Given the description of an element on the screen output the (x, y) to click on. 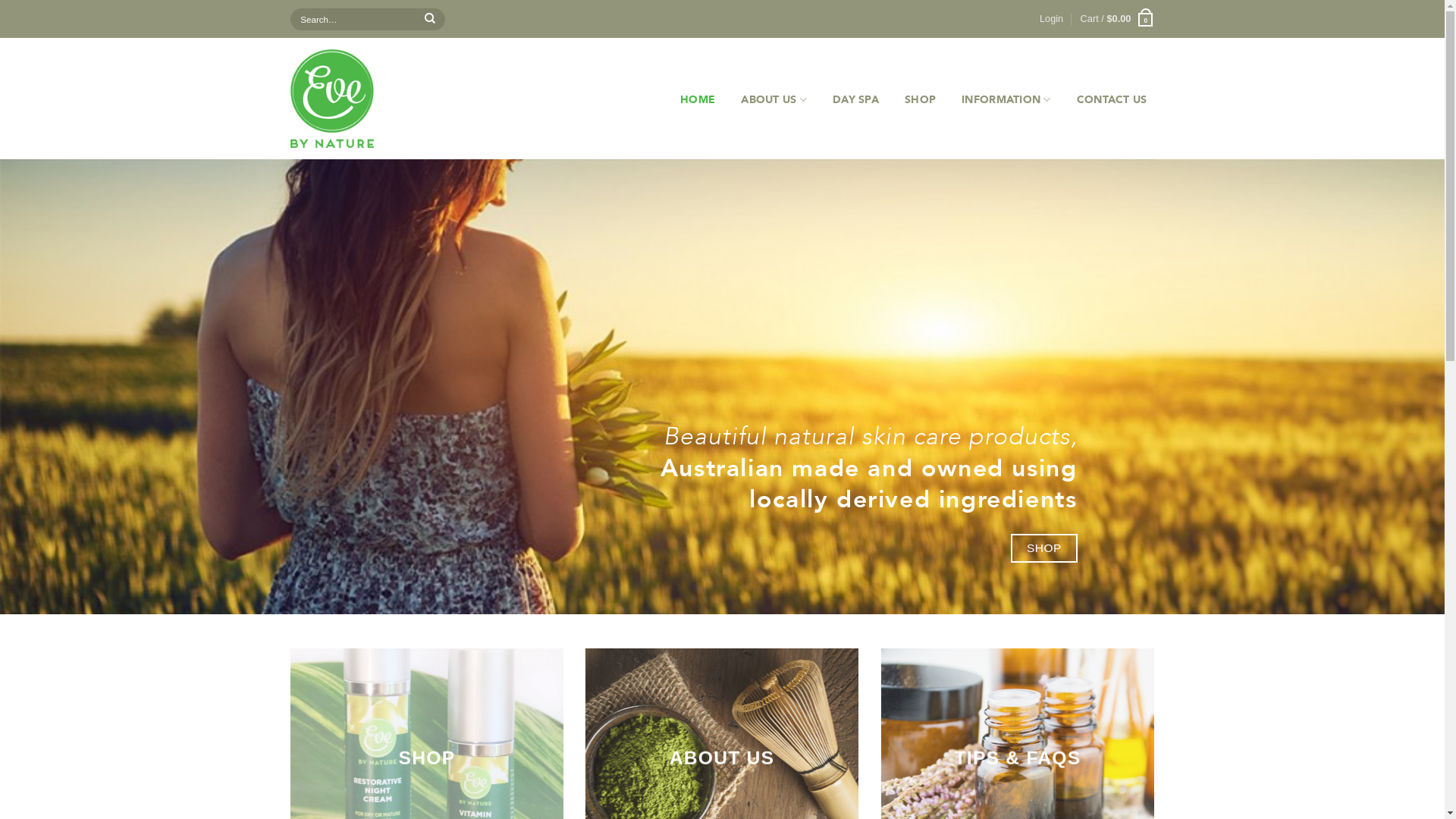
Skip to content Element type: text (0, 0)
DAY SPA Element type: text (855, 99)
Cart / $0.00
0 Element type: text (1117, 18)
Eve By Nature - Beautiful natural skin care products Element type: hover (368, 98)
ABOUT US Element type: text (773, 99)
CONTACT US Element type: text (1111, 99)
SHOP Element type: text (920, 99)
HOME Element type: text (697, 99)
SHOP Element type: text (1046, 548)
INFORMATION Element type: text (1005, 99)
Login Element type: text (1051, 18)
